Given the description of an element on the screen output the (x, y) to click on. 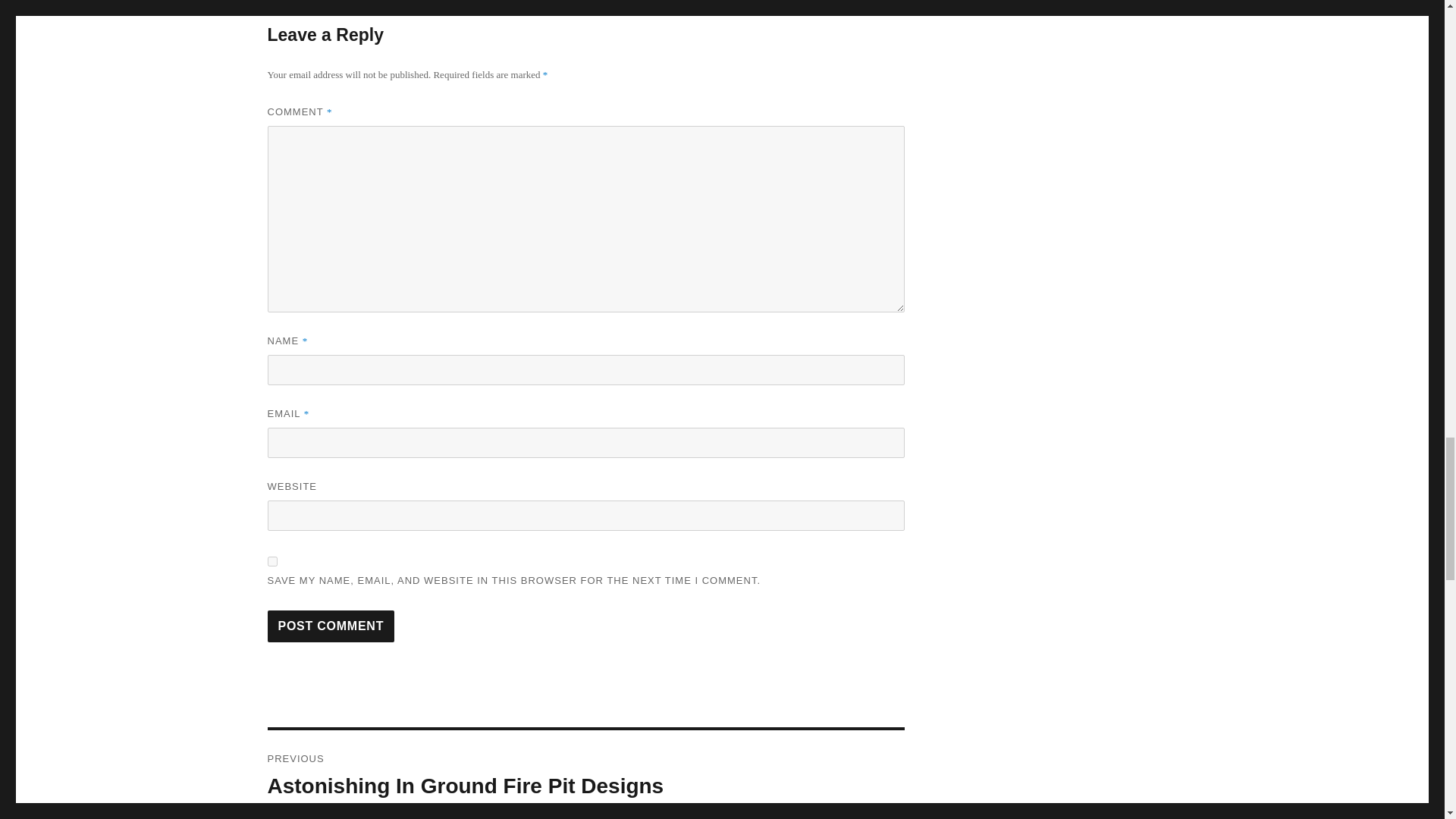
yes (271, 561)
Post Comment (330, 626)
